Given the description of an element on the screen output the (x, y) to click on. 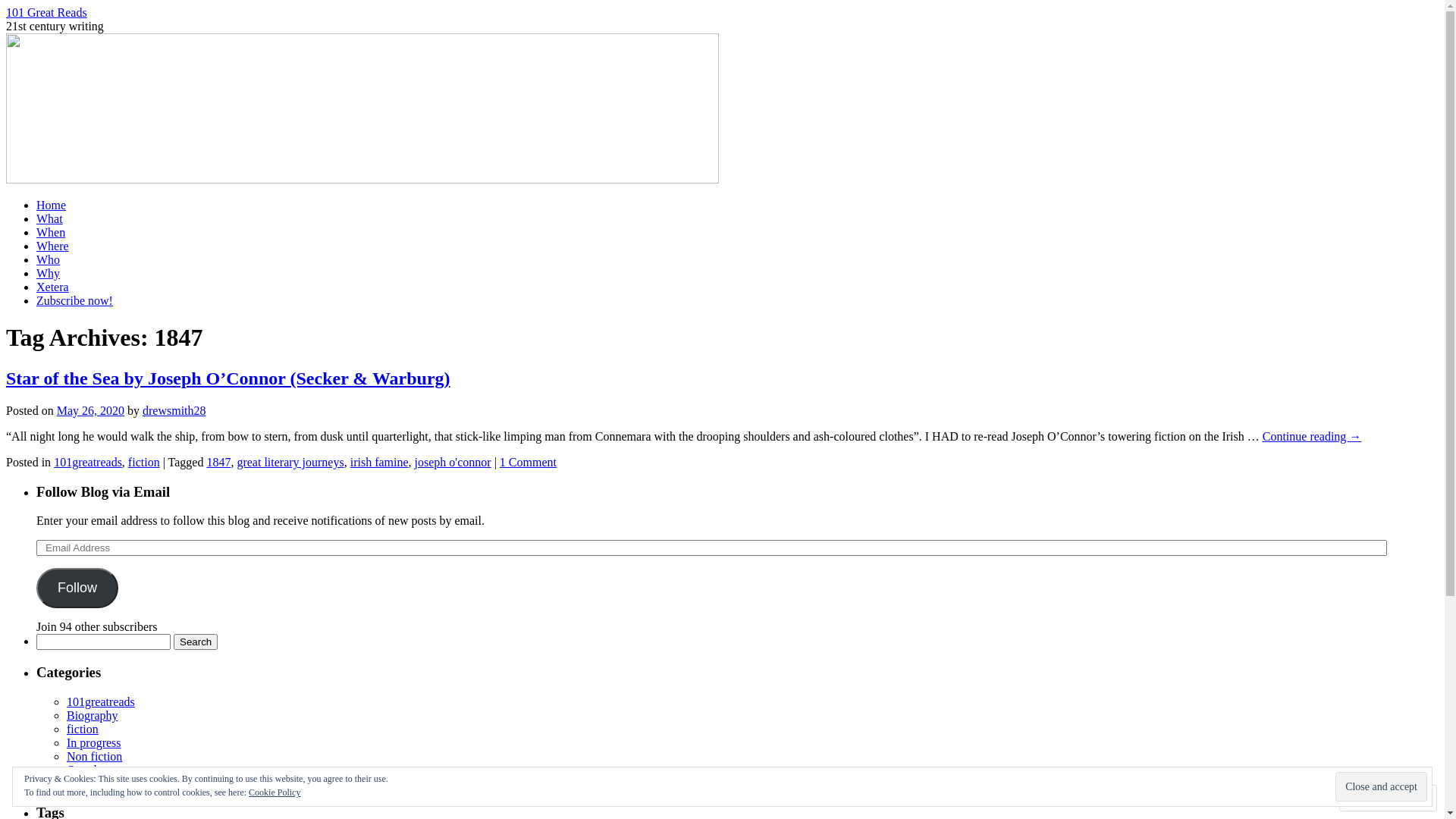
Cookie Policy Element type: text (274, 792)
Xetera Element type: text (82, 783)
Where Element type: text (52, 245)
May 26, 2020 Element type: text (90, 410)
1847 Element type: text (218, 461)
When Element type: text (50, 231)
Biography Element type: text (92, 715)
101greatreads Element type: text (87, 461)
Non fiction Element type: text (94, 755)
irish famine Element type: text (379, 461)
Why Element type: text (47, 272)
In progress Element type: text (93, 742)
Xetera Element type: text (52, 286)
Who Element type: text (47, 259)
What Element type: text (49, 218)
Follow Element type: text (77, 587)
drewsmith28 Element type: text (174, 410)
101greatreads Element type: text (100, 701)
Outtakes Element type: text (87, 769)
fiction Element type: text (82, 728)
Skip to content Element type: text (22, 217)
Follow Element type: text (1373, 797)
Close and accept Element type: text (1381, 786)
101 Great Reads Element type: text (46, 12)
joseph o'connor Element type: text (452, 461)
101 Great Reads Element type: hover (362, 178)
fiction Element type: text (144, 461)
great literary journeys Element type: text (289, 461)
1 Comment Element type: text (527, 461)
Search Element type: text (195, 641)
Zubscribe now! Element type: text (74, 300)
Home Element type: text (50, 204)
